Given the description of an element on the screen output the (x, y) to click on. 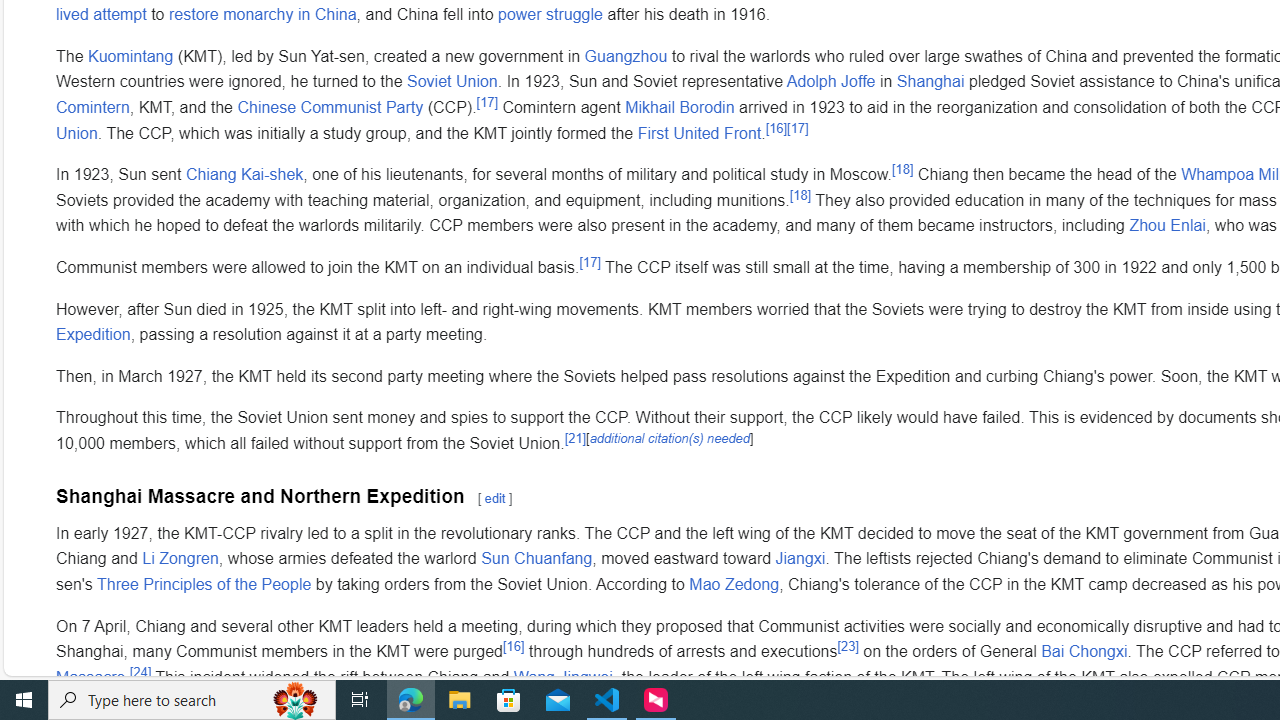
Wang Jingwei (563, 677)
restore monarchy in China (262, 14)
Jiangxi (799, 559)
First United Front (699, 132)
Mao Zedong (733, 585)
[21] (575, 437)
Three Principles of the People (204, 585)
additional citation(s) needed (669, 437)
Li Zongren (180, 559)
[17] (589, 262)
Shanghai (930, 81)
edit (494, 498)
Comintern (93, 107)
[18] (799, 195)
[23] (847, 645)
